Given the description of an element on the screen output the (x, y) to click on. 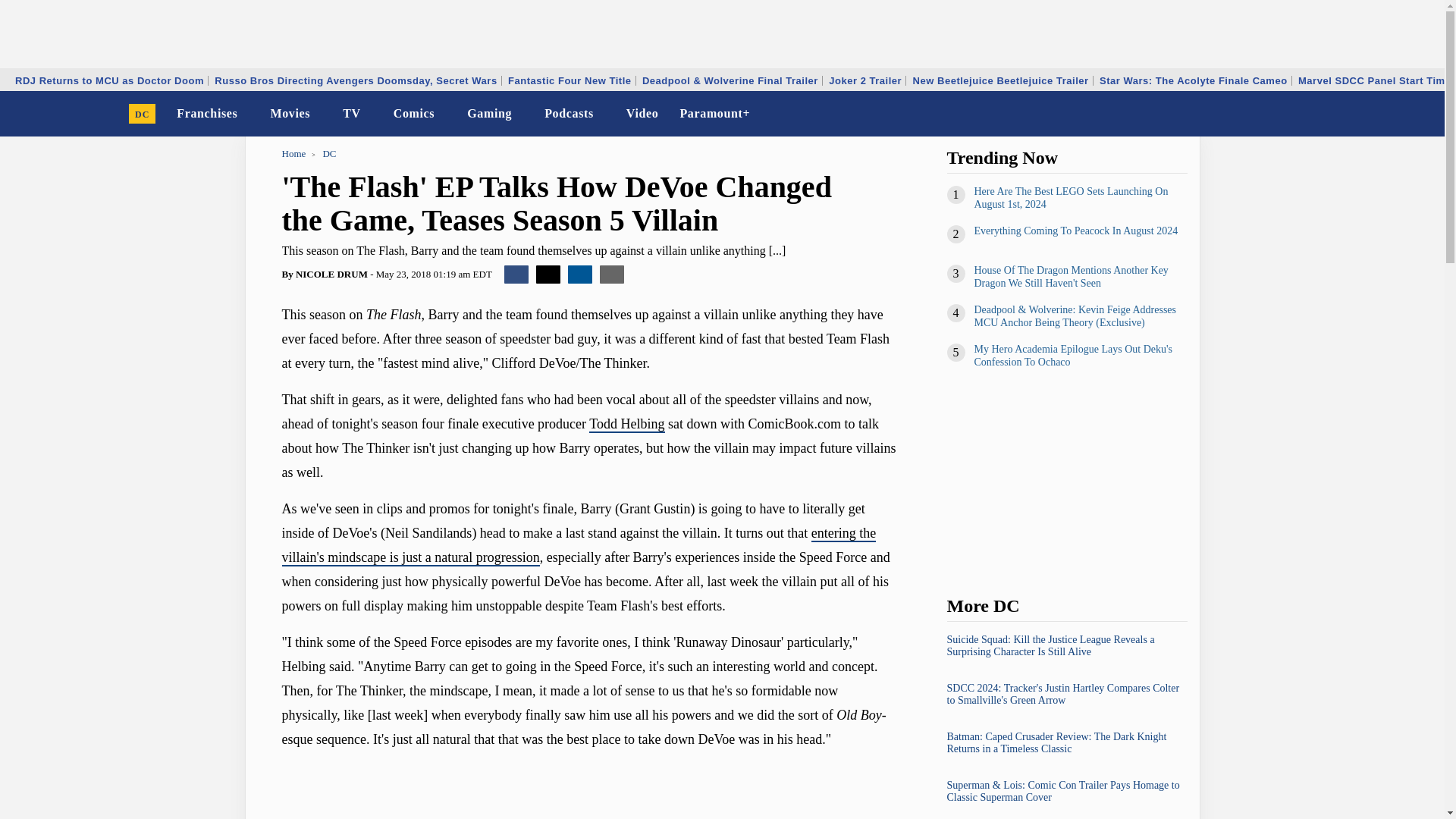
Dark Mode (1394, 113)
RDJ Returns to MCU as Doctor Doom (109, 80)
Movies (289, 113)
Star Wars: The Acolyte Finale Cameo (1193, 80)
Search (1422, 114)
Joker 2 Trailer (865, 80)
DC (142, 113)
New Beetlejuice Beetlejuice Trailer (1000, 80)
Fantastic Four New Title (568, 80)
Comics (414, 113)
Russo Bros Directing Avengers Doomsday, Secret Wars (355, 80)
